Given the description of an element on the screen output the (x, y) to click on. 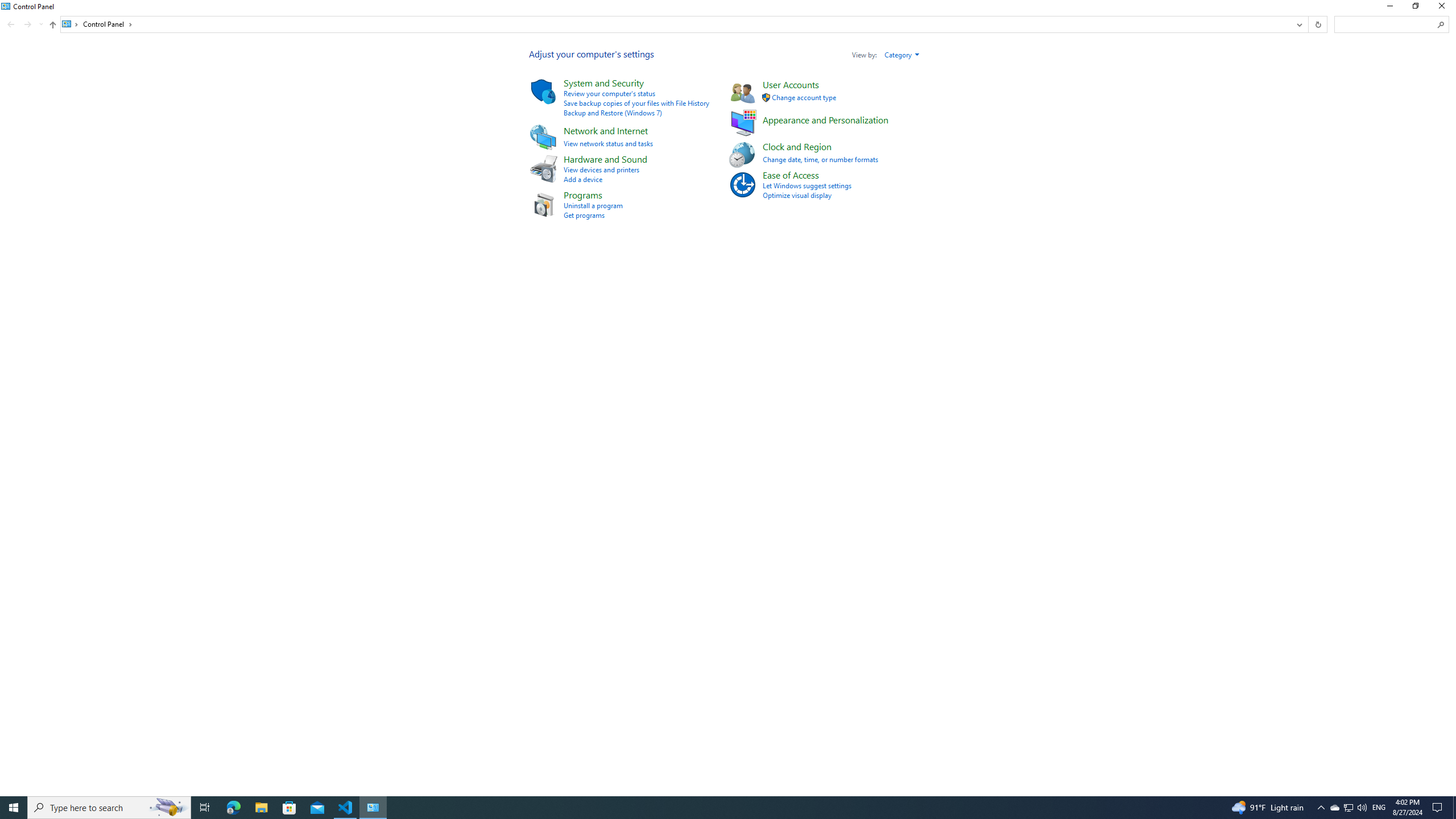
Icon (765, 97)
User Accounts (790, 84)
Icon (741, 183)
Appearance and Personalization (825, 119)
Forward (Alt + Right Arrow) (27, 23)
Back (Alt + Left Arrow) (10, 23)
Review your computer's status (609, 93)
Address: Control Panel (675, 23)
Add a device (582, 179)
